Given the description of an element on the screen output the (x, y) to click on. 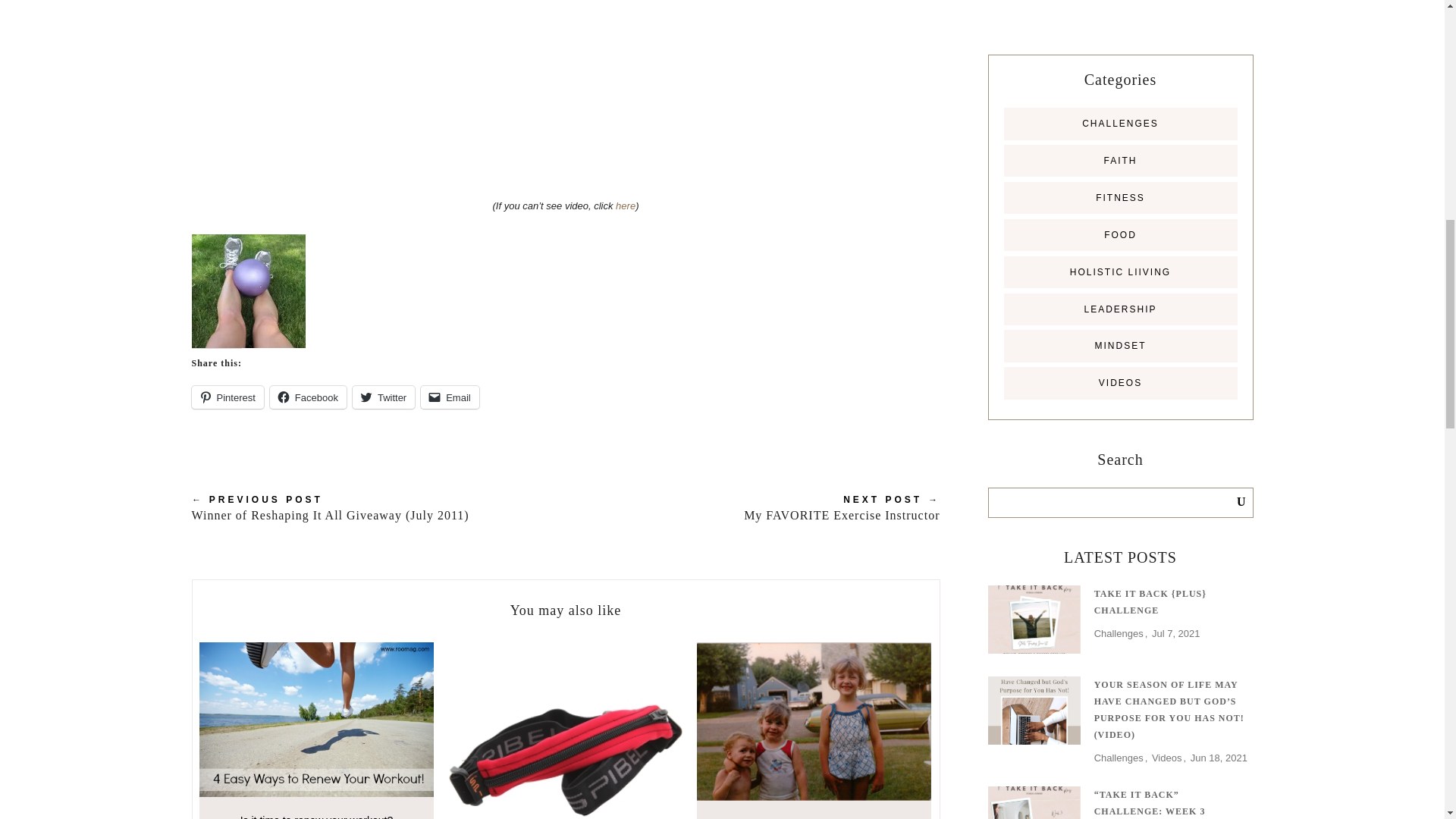
Pinterest (226, 396)
here (624, 205)
Click to share on Pinterest (226, 396)
Click to share on Twitter (383, 396)
Email (449, 396)
Twitter (383, 396)
Facebook (307, 396)
The Story of a Girl (813, 730)
Click to share on Facebook (307, 396)
Last minute gifts for the fitness lover in your life! (564, 730)
Click to email a link to a friend (449, 396)
Search (1229, 502)
Is it time to renew your workout? (315, 730)
